Given the description of an element on the screen output the (x, y) to click on. 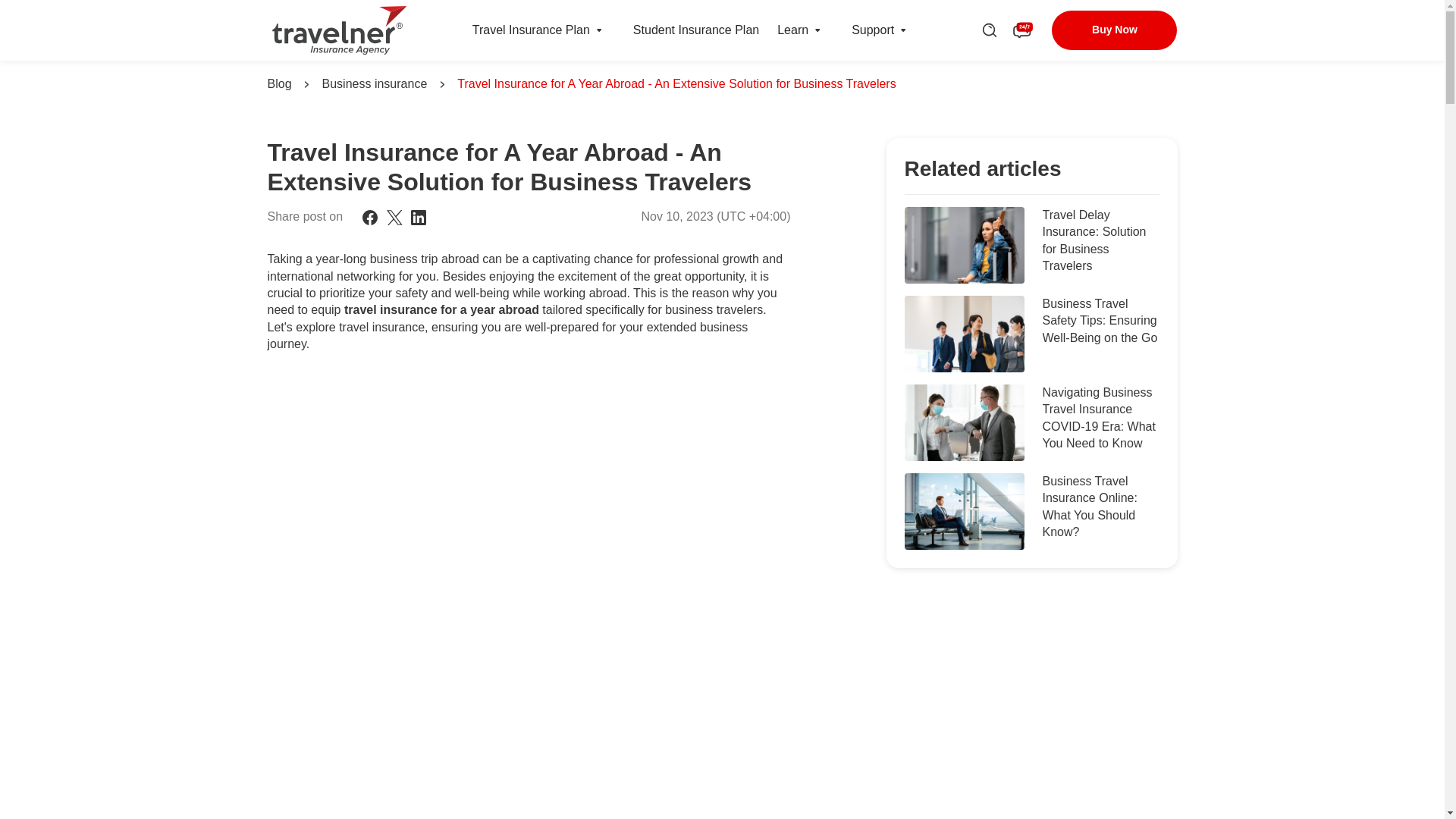
Student Insurance Plan (695, 30)
Support (872, 30)
Learn (792, 30)
Learn (792, 30)
Travel Insurance Plan (530, 30)
Buy Now (1113, 29)
Support (872, 30)
Travelner (339, 29)
Travel Insurance Plan (530, 30)
Learn (817, 30)
Travel Insurance Plan (598, 30)
Support (902, 30)
Blog (278, 84)
Student Insurance Plan (695, 30)
